Given the description of an element on the screen output the (x, y) to click on. 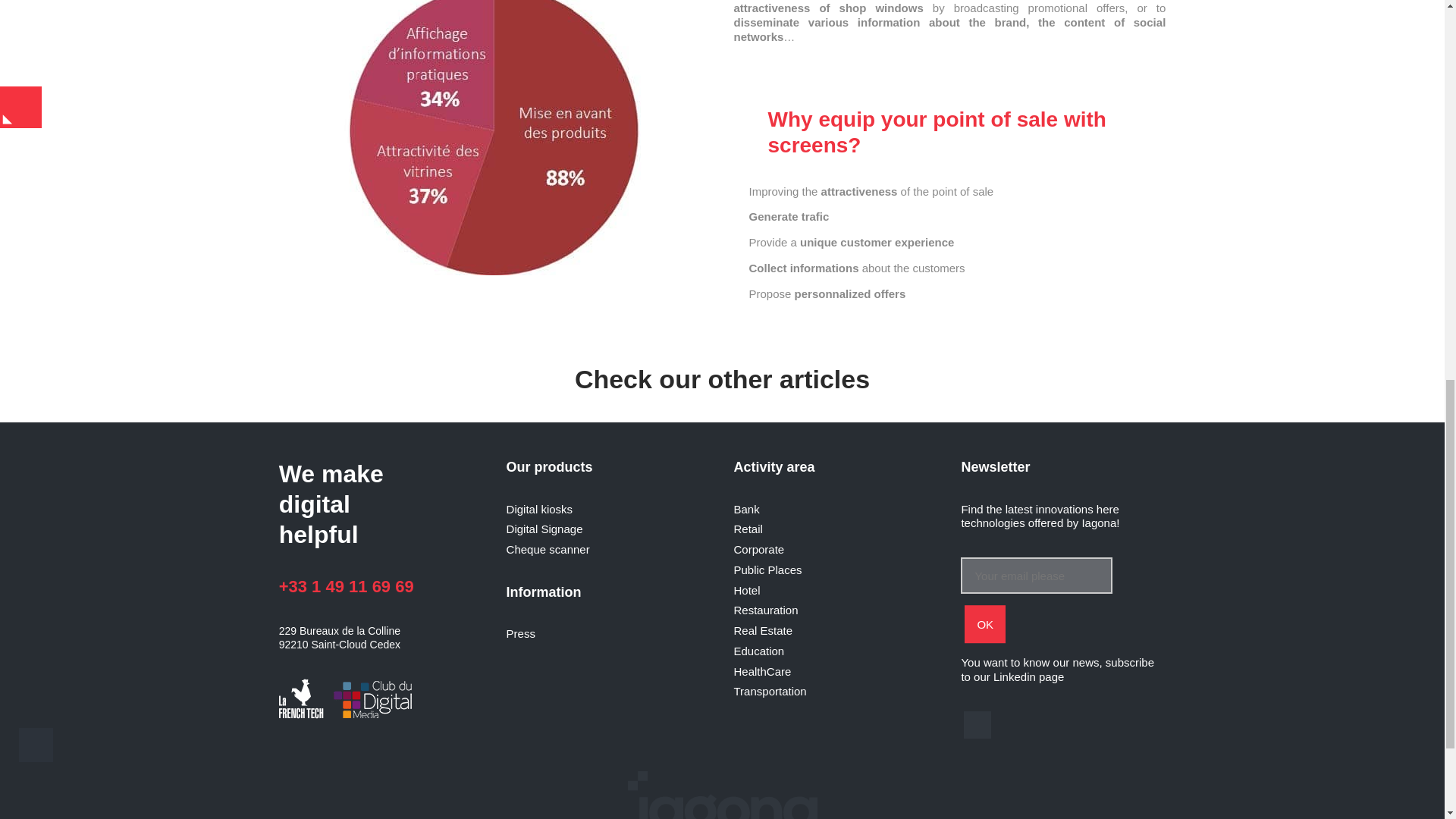
frenchtech-CDM (349, 699)
OK (984, 624)
iagona-footer (721, 795)
